Given the description of an element on the screen output the (x, y) to click on. 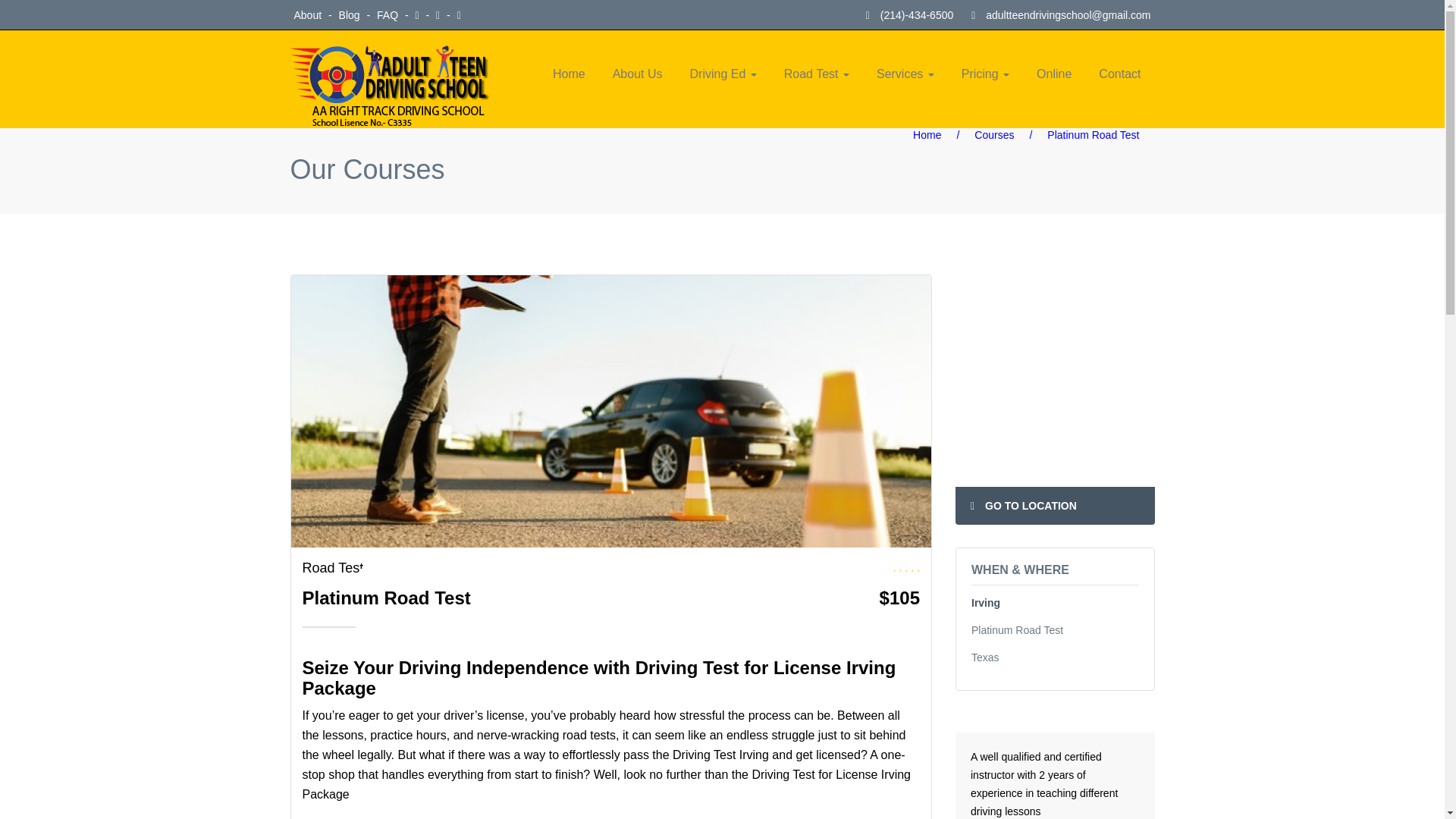
FAQ (389, 15)
Courses (993, 134)
Driving Ed (723, 71)
About Us (637, 71)
Driving Ed (723, 71)
Road Test (331, 567)
Platinum Road Test (385, 598)
Road Test (816, 71)
Services (905, 71)
About (309, 15)
